Given the description of an element on the screen output the (x, y) to click on. 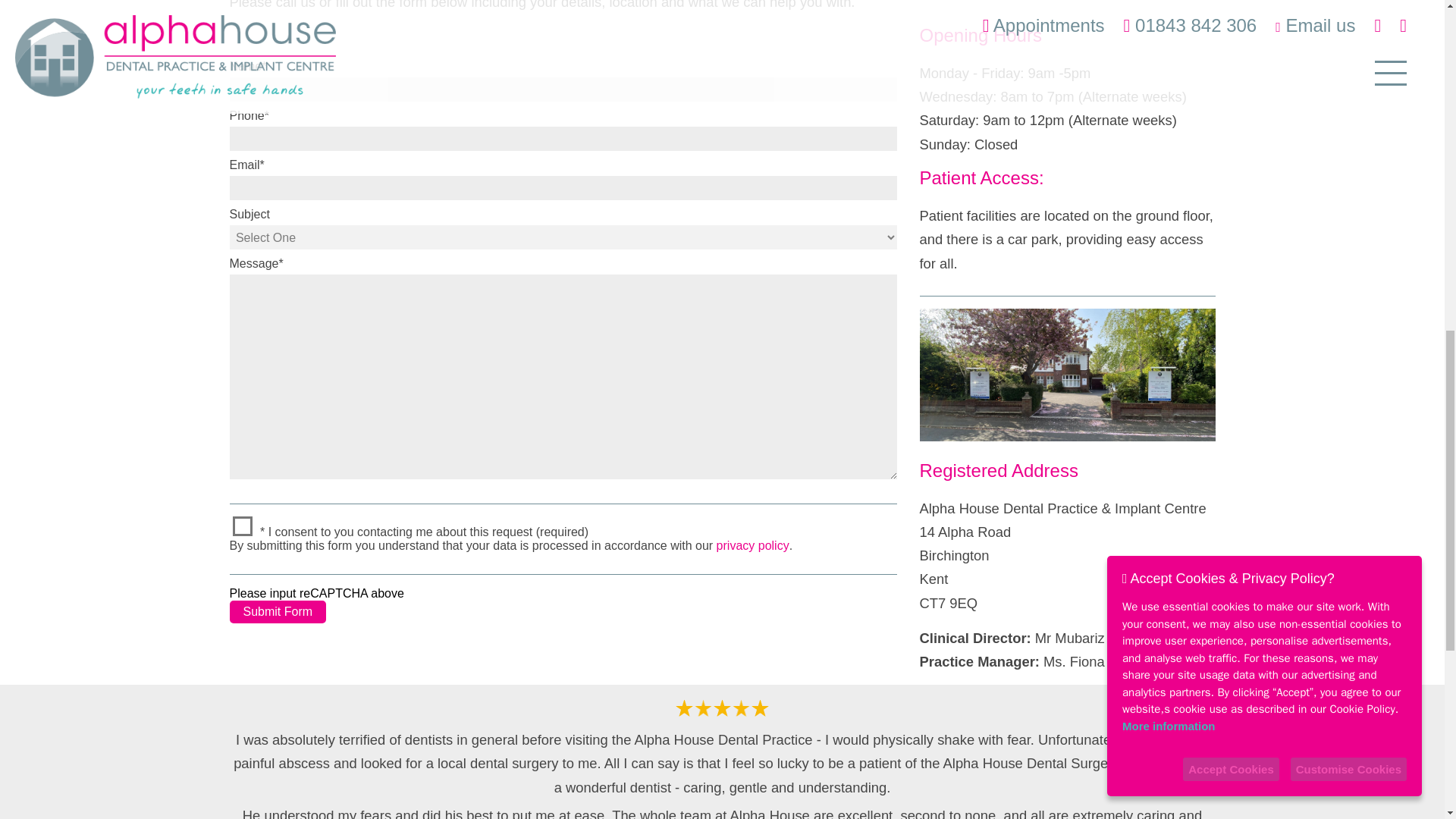
Submit Form (277, 611)
